Given the description of an element on the screen output the (x, y) to click on. 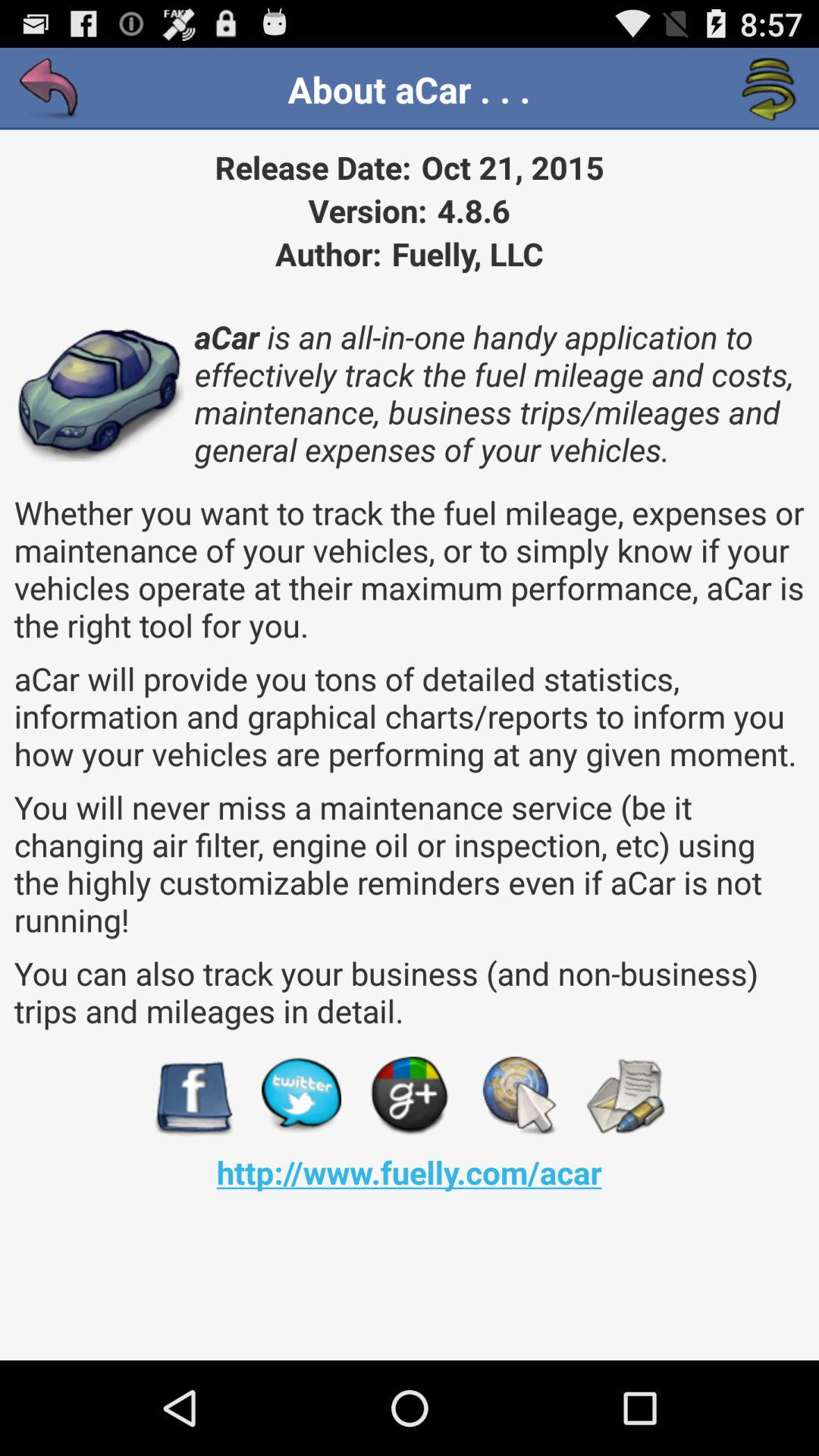
select the app above http www fuelly app (625, 1096)
